Given the description of an element on the screen output the (x, y) to click on. 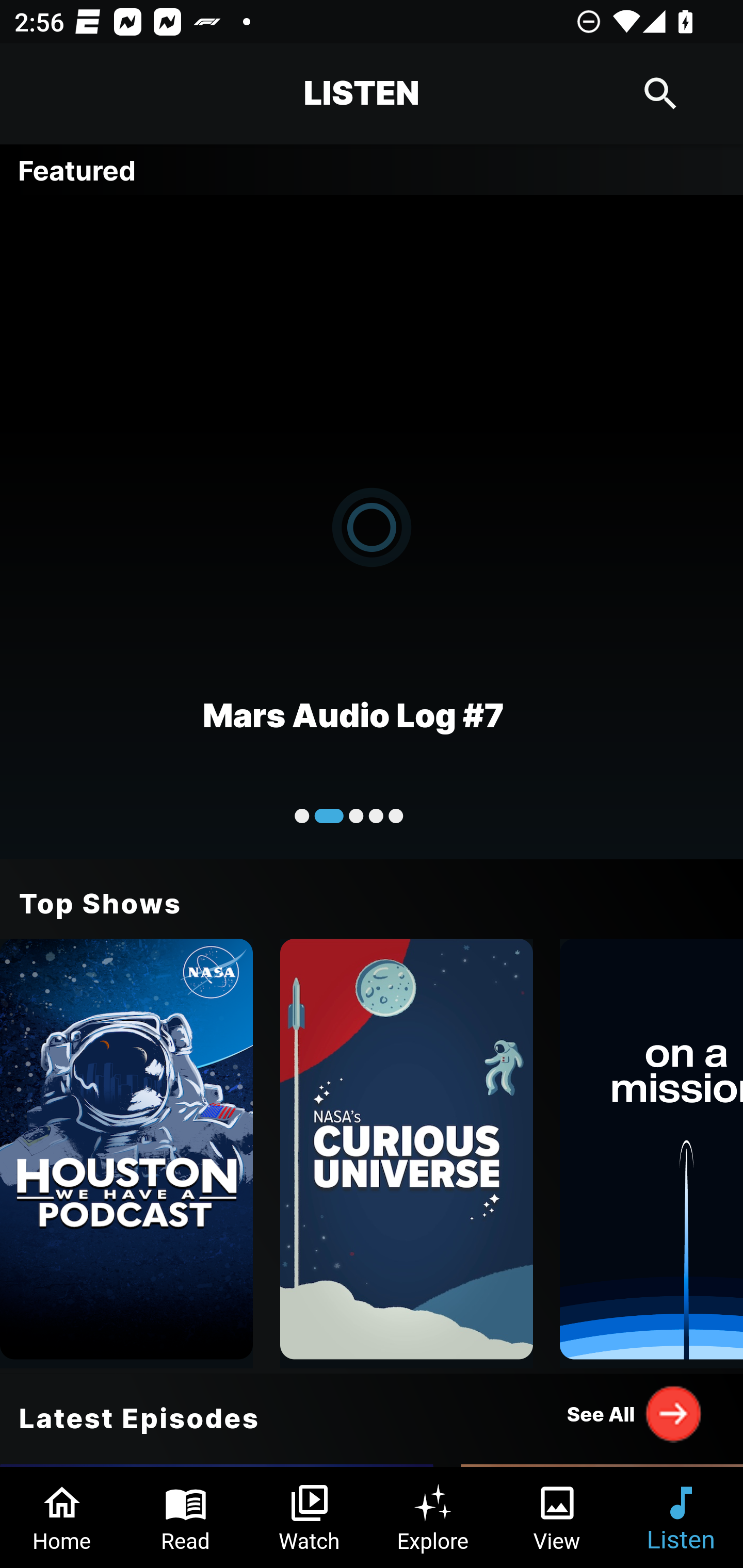
Mars Audio Log #7 (371, 526)
See All (634, 1413)
Home
Tab 1 of 6 (62, 1517)
Read
Tab 2 of 6 (185, 1517)
Watch
Tab 3 of 6 (309, 1517)
Explore
Tab 4 of 6 (433, 1517)
View
Tab 5 of 6 (556, 1517)
Listen
Tab 6 of 6 (680, 1517)
